Given the description of an element on the screen output the (x, y) to click on. 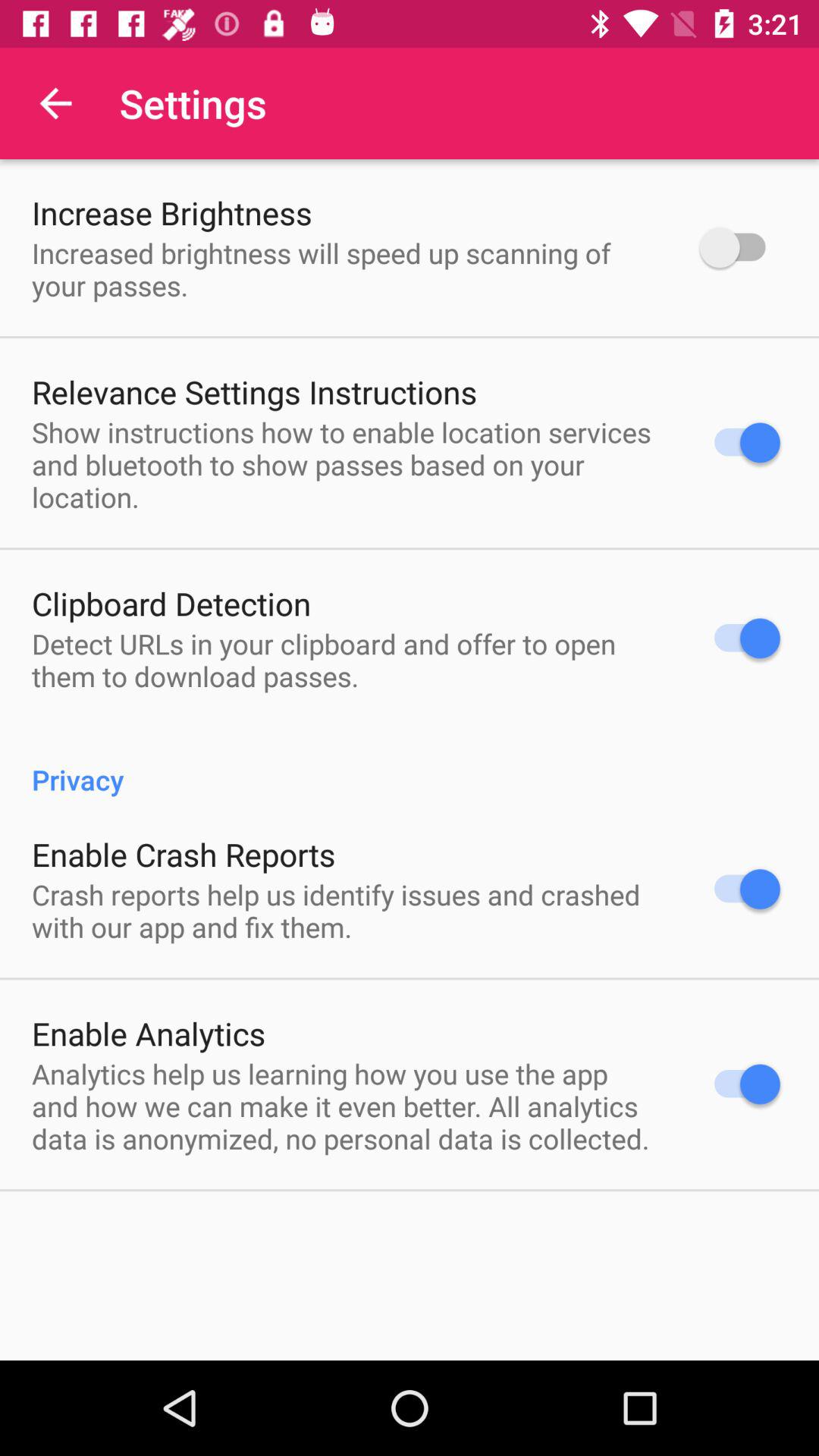
turn off the icon above the analytics help us icon (148, 1033)
